Given the description of an element on the screen output the (x, y) to click on. 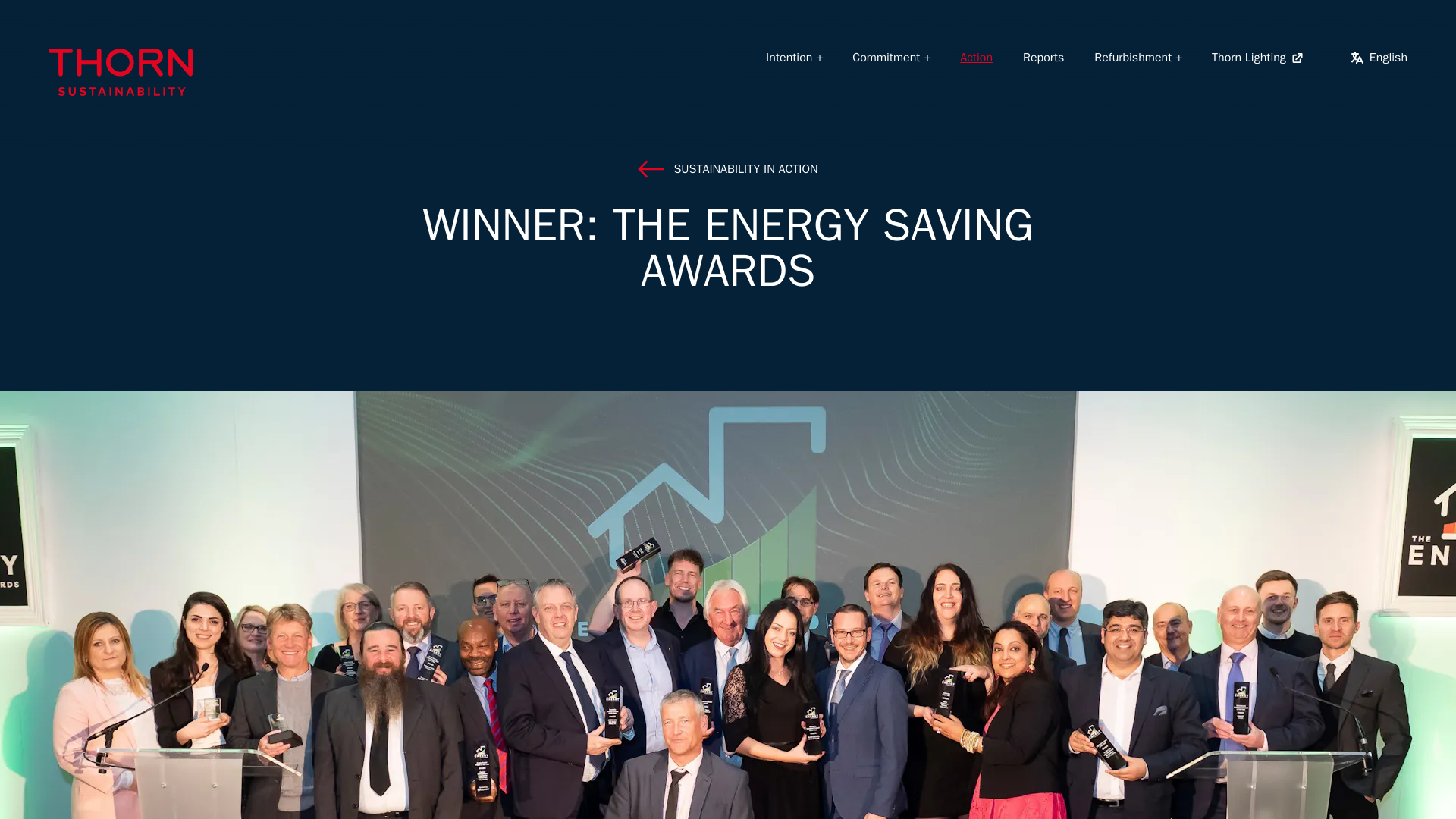
Reports (1043, 57)
SUSTAINABILITY IN ACTION (727, 168)
Thorn Lighting (1257, 57)
English (1379, 57)
Action (975, 57)
